Given the description of an element on the screen output the (x, y) to click on. 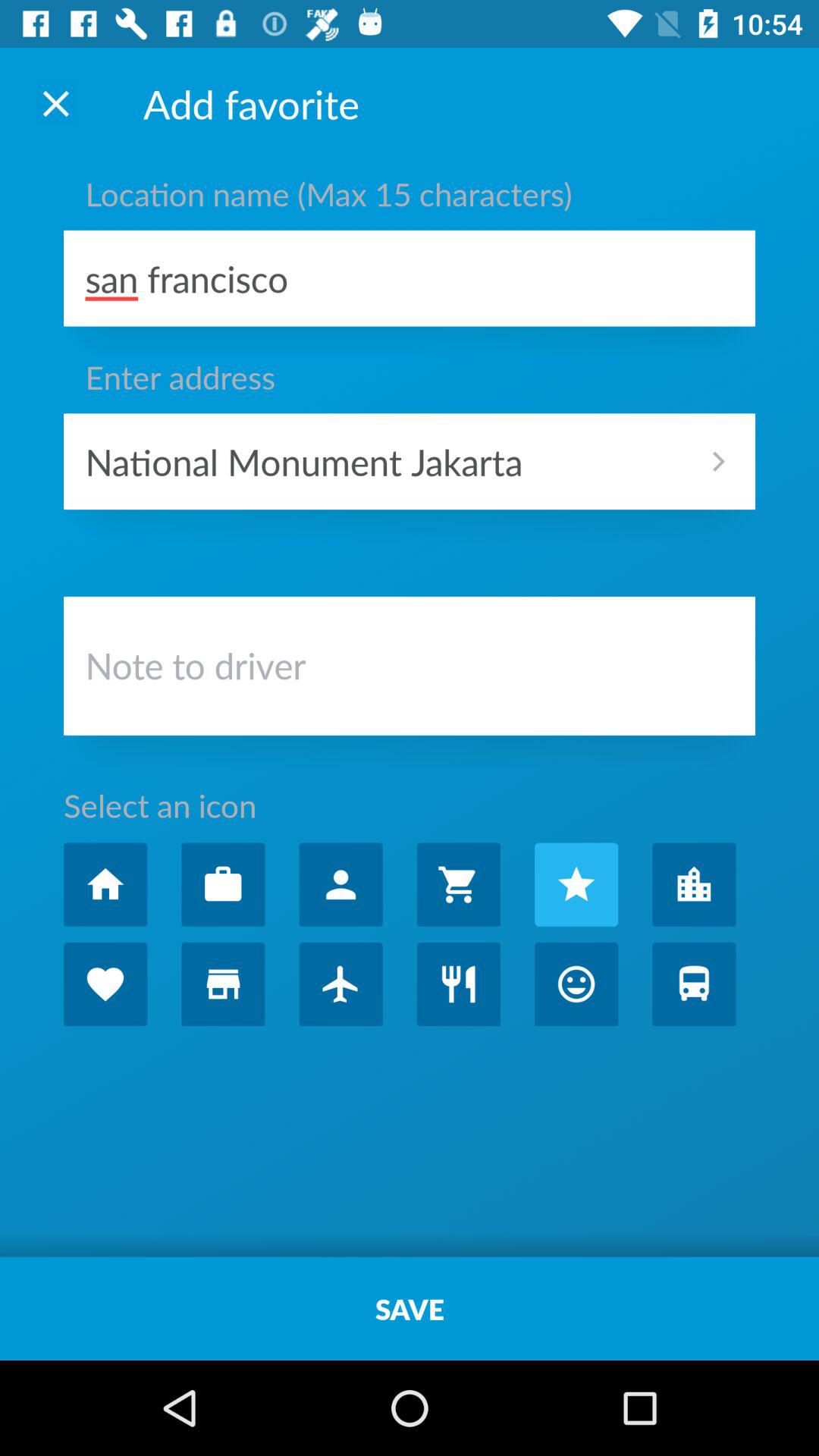
close the page (55, 103)
